Given the description of an element on the screen output the (x, y) to click on. 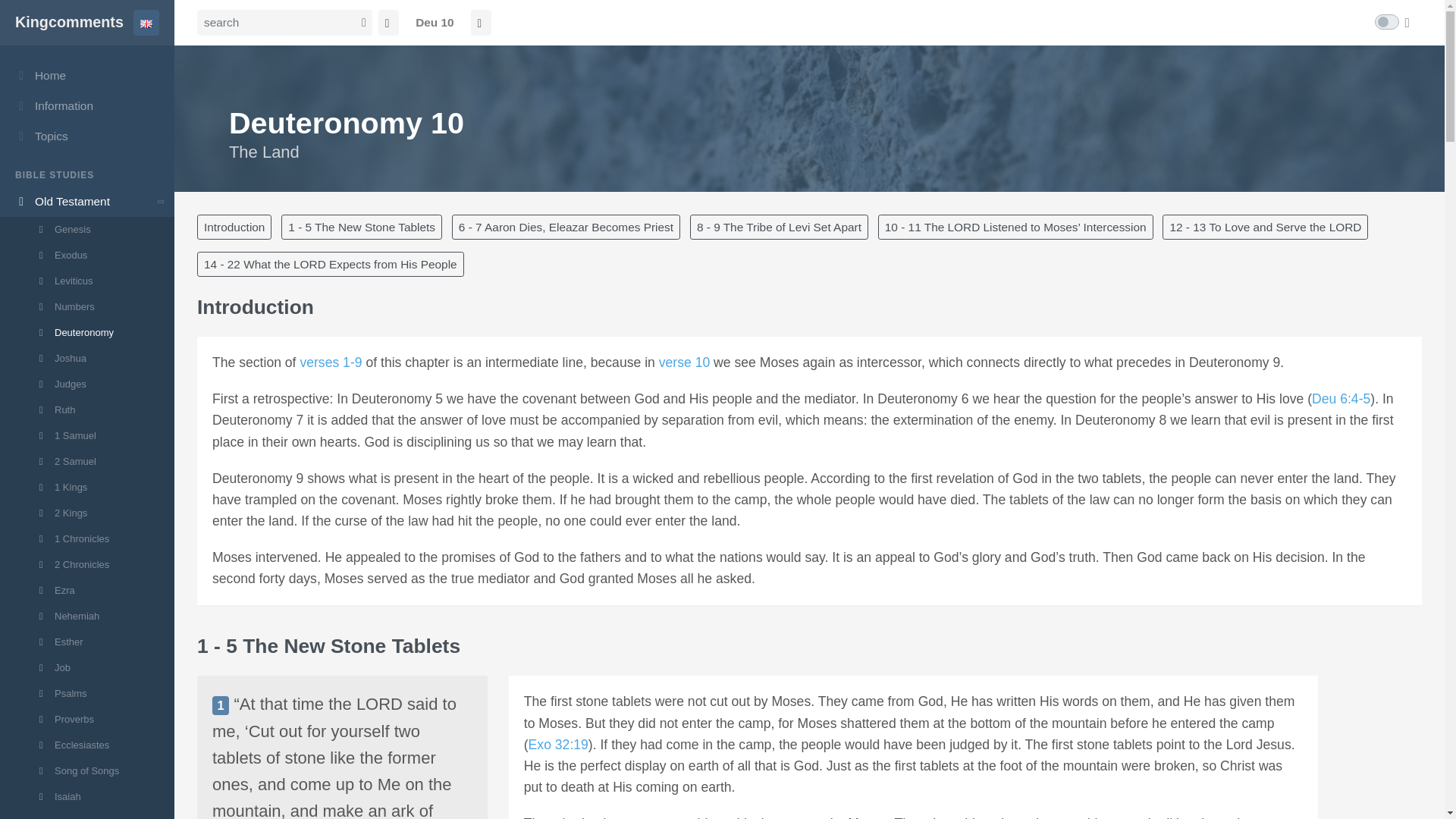
Kingcomments (68, 22)
